Given the description of an element on the screen output the (x, y) to click on. 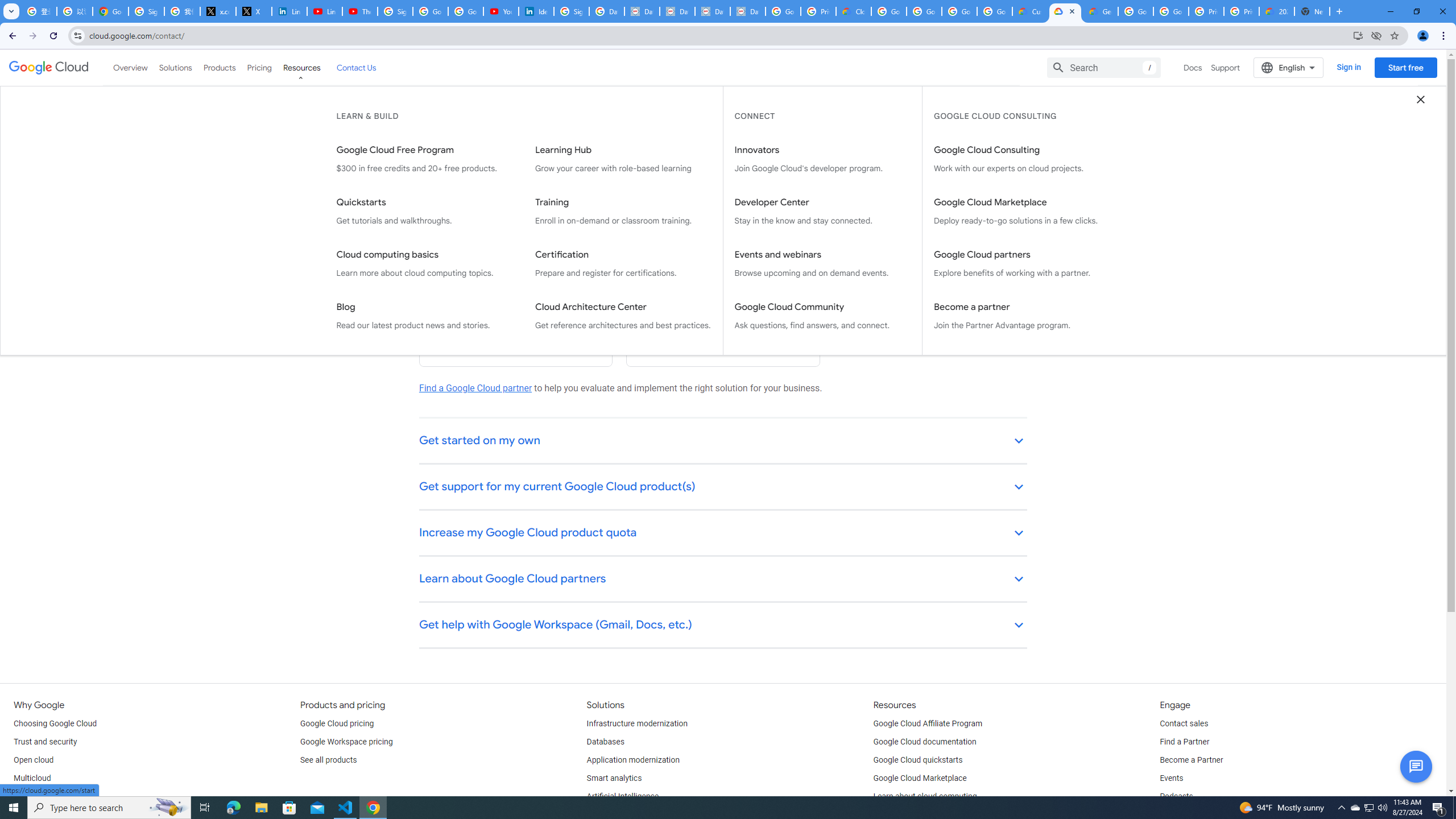
Data Privacy Framework (747, 11)
Smart analytics (614, 778)
You (1422, 35)
Become a partner Join the Partner Advantage program. (1021, 316)
Events (1170, 778)
Gemini for Business and Developers | Google Cloud (1099, 11)
New Tab (1338, 11)
Google Cloud documentation (924, 742)
Data Privacy Framework (677, 11)
Sign in (1348, 67)
